Given the description of an element on the screen output the (x, y) to click on. 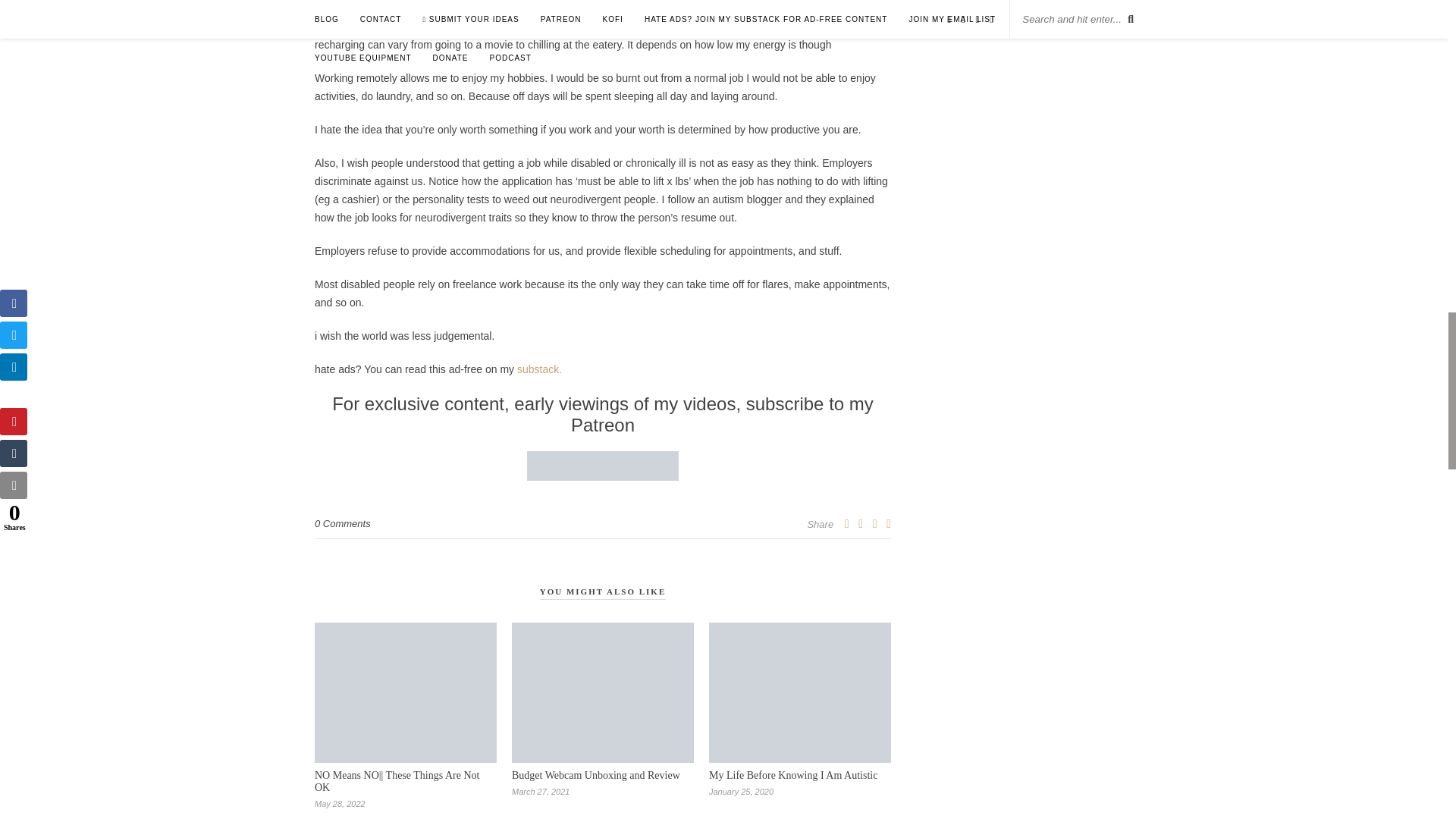
substack. (539, 369)
My Life Before Knowing I Am Autistic (793, 775)
Budget Webcam Unboxing and Review (595, 775)
0 Comments (342, 523)
